Given the description of an element on the screen output the (x, y) to click on. 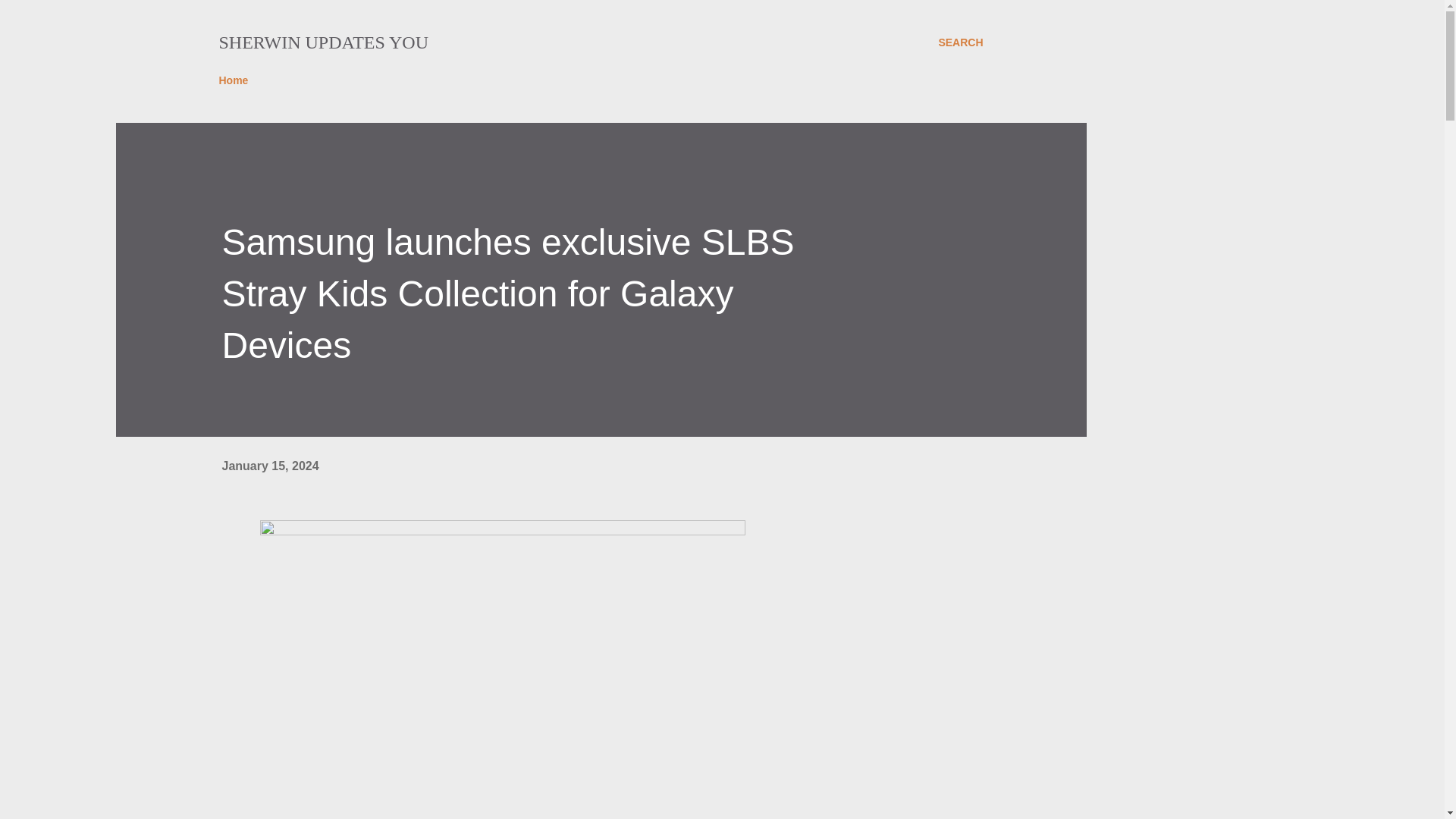
SHERWIN UPDATES YOU (323, 42)
Home (237, 80)
SEARCH (959, 42)
permanent link (269, 465)
January 15, 2024 (269, 465)
